Given the description of an element on the screen output the (x, y) to click on. 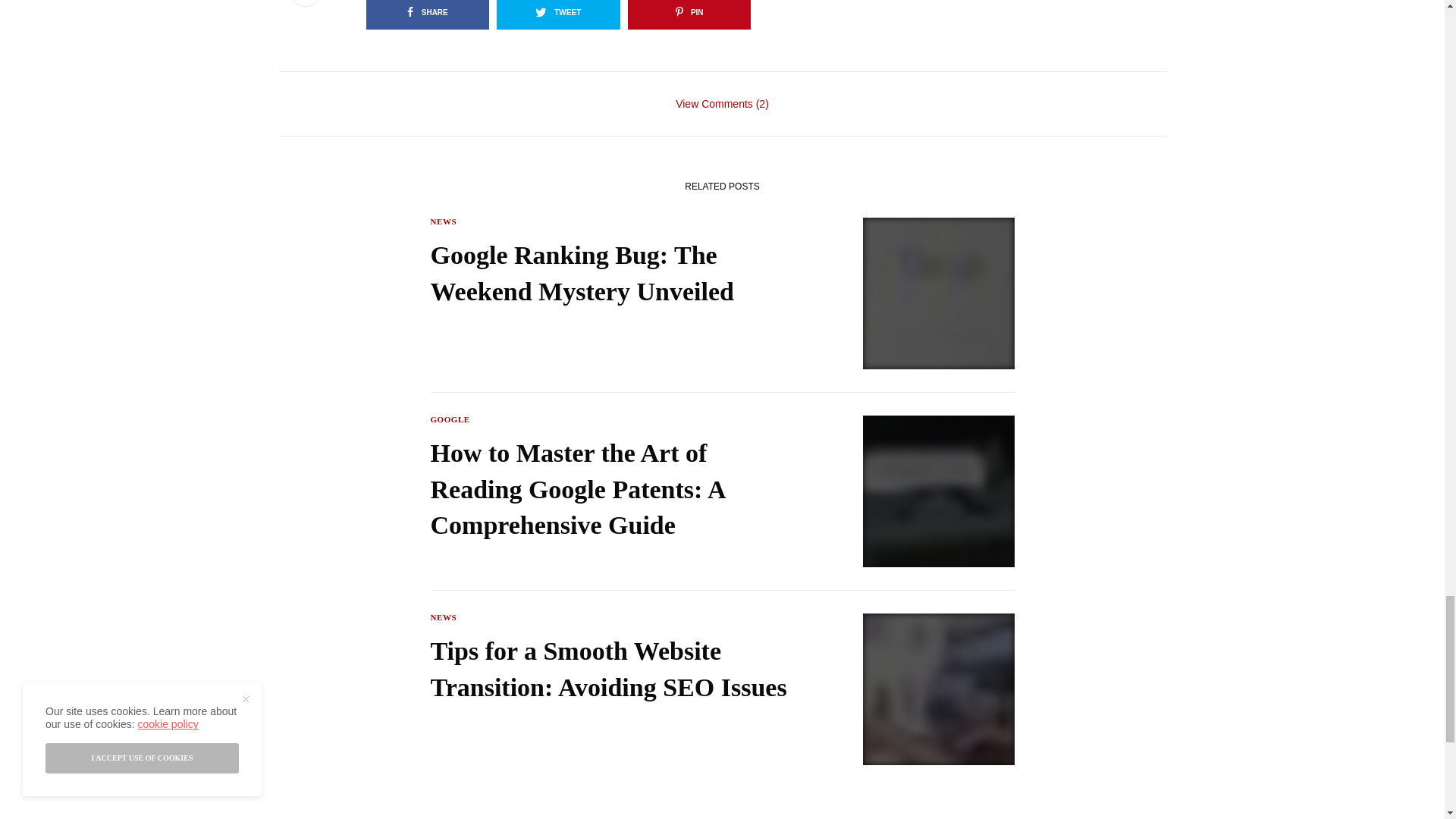
Tips for a Smooth Website Transition: Avoiding SEO Issues (617, 669)
Google Ranking Bug: The Weekend Mystery Unveiled (617, 273)
